Given the description of an element on the screen output the (x, y) to click on. 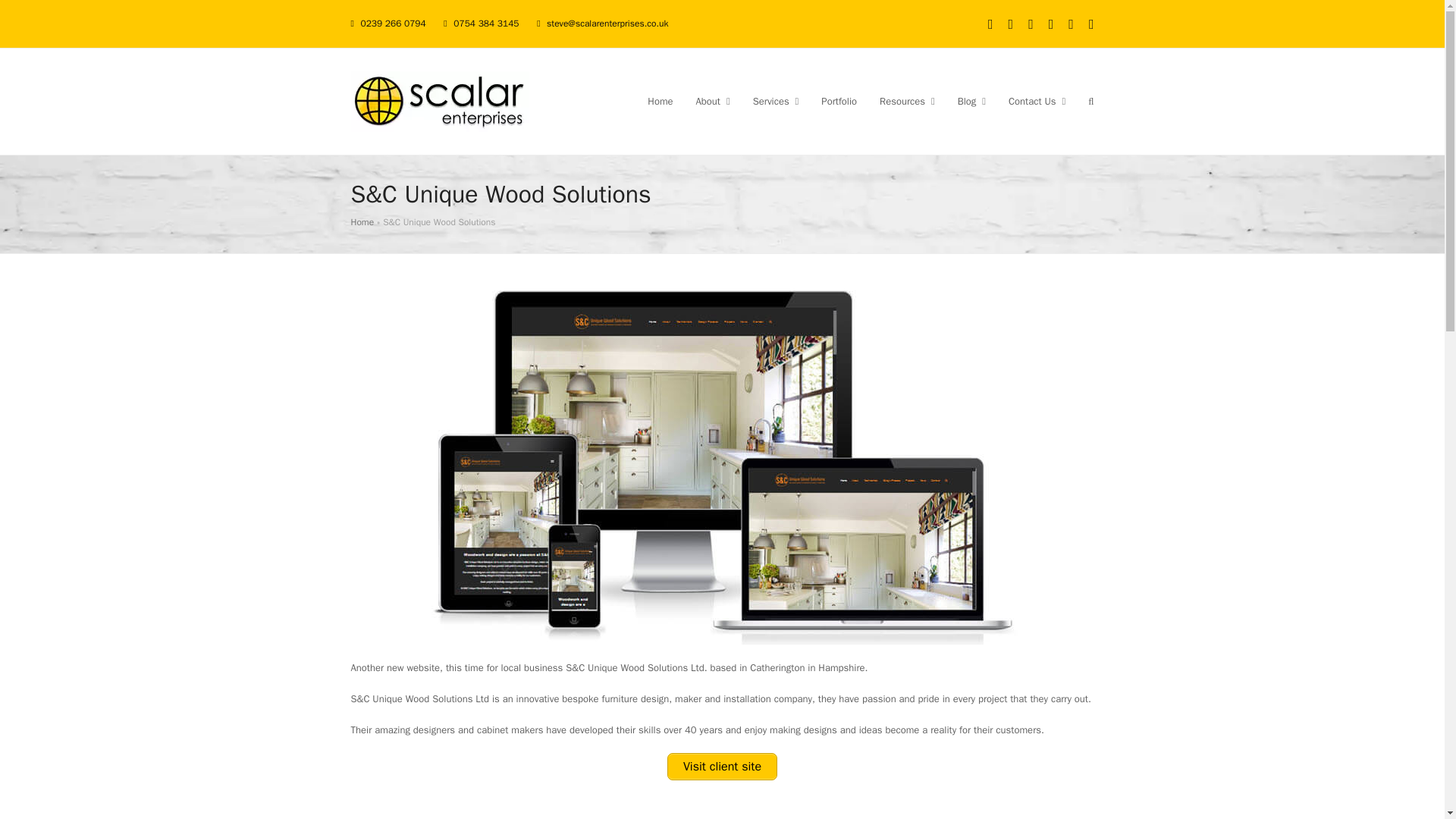
Resources (906, 101)
Services (775, 101)
About (712, 101)
0754 384 3145 (485, 23)
Home (660, 101)
0239 266 0794 (392, 23)
Portfolio (838, 101)
